Given the description of an element on the screen output the (x, y) to click on. 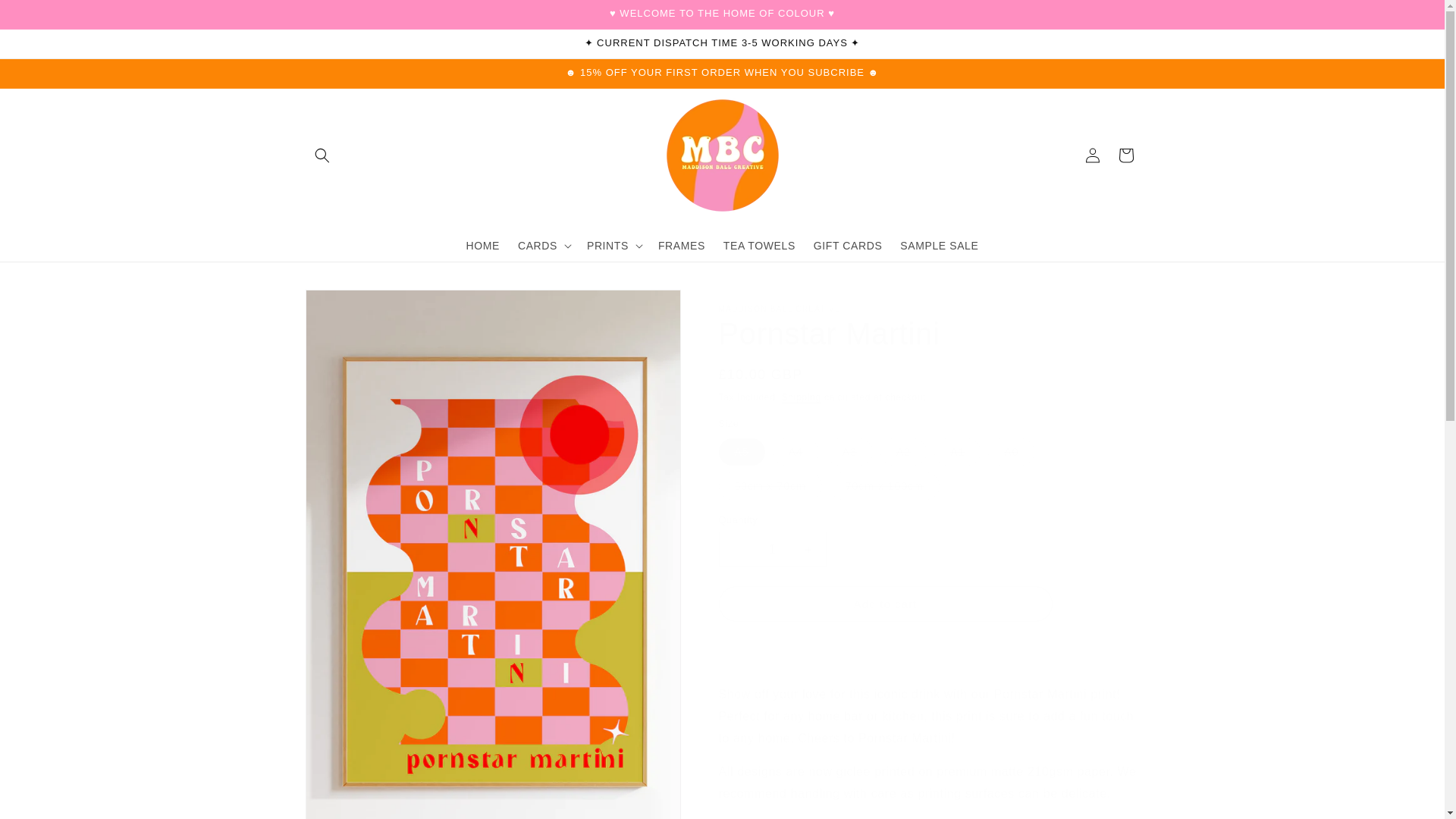
1 (773, 549)
Skip to content (45, 17)
HOME (482, 245)
